Given the description of an element on the screen output the (x, y) to click on. 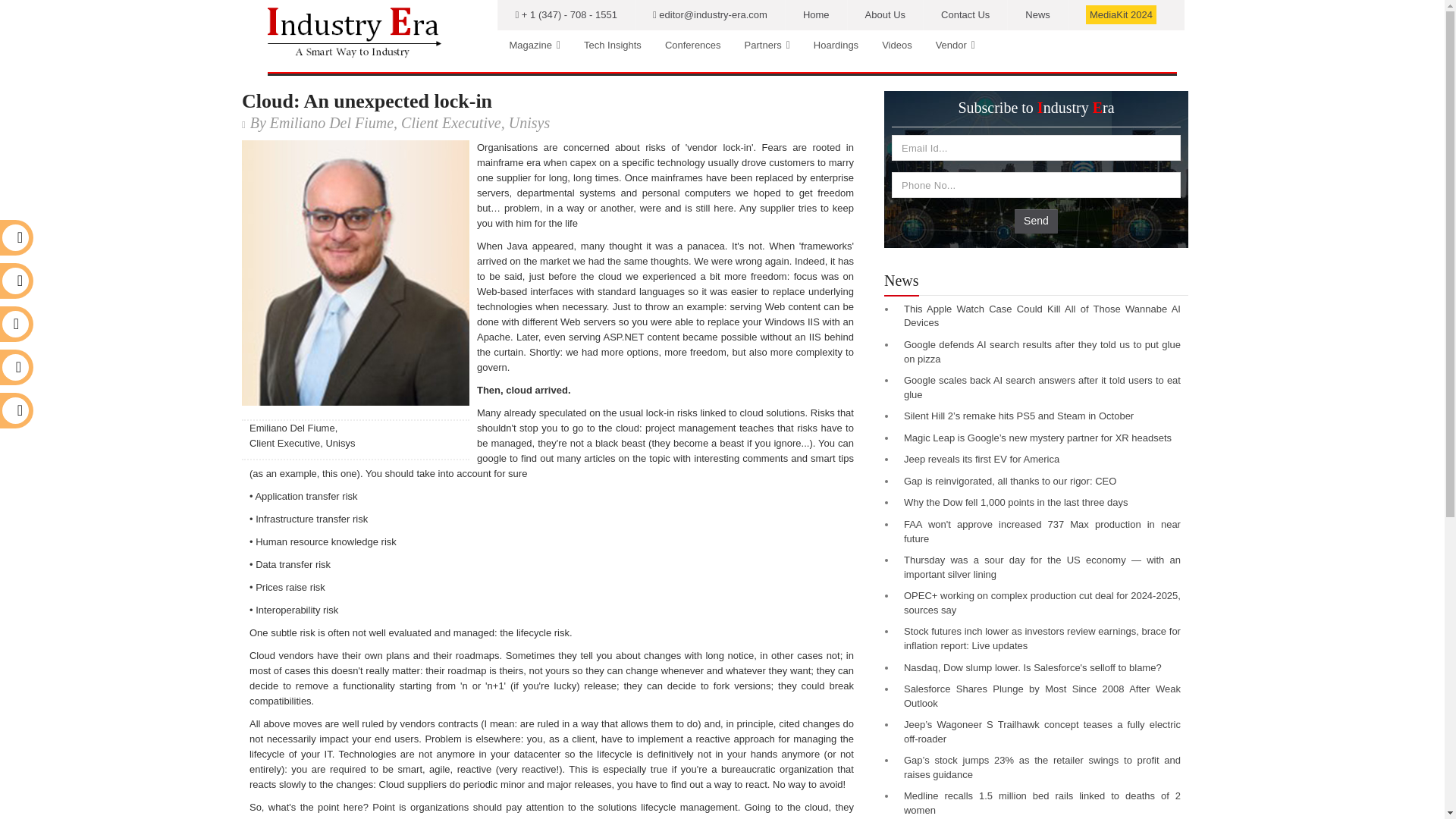
Hoardings (835, 45)
Tech Insights (612, 45)
Magazine (534, 45)
Contact Us (965, 15)
MediaKit 2024 (1120, 15)
Home (816, 15)
Vendor (955, 45)
Videos (896, 45)
About Us (885, 15)
Partners (767, 45)
News (1037, 15)
Conferences (692, 45)
